Given the description of an element on the screen output the (x, y) to click on. 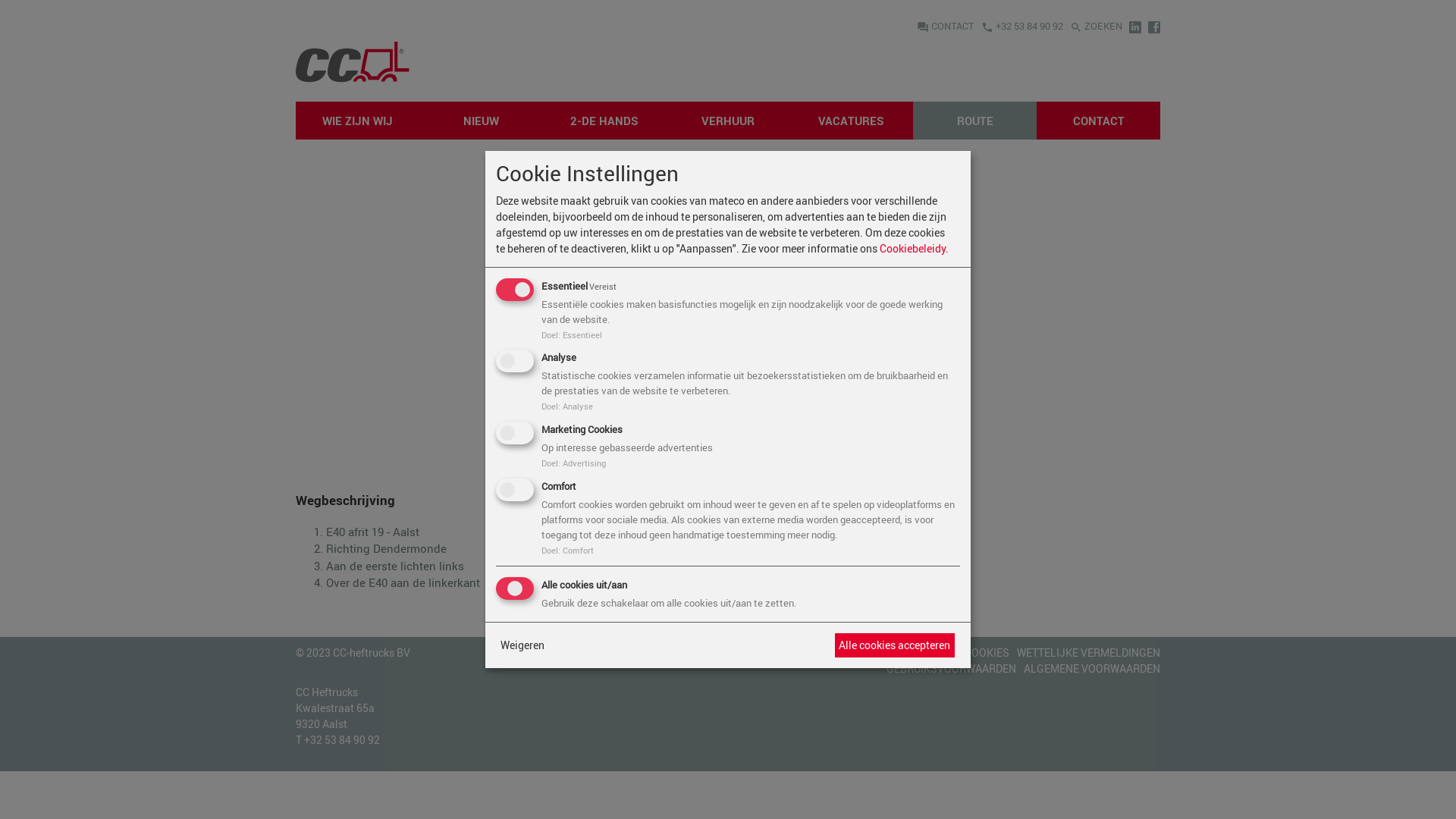
LinkedIn Element type: hover (1135, 25)
CC Heftrucks
Kwalestraat 65a
9320 Aalst
T Element type: text (334, 715)
CONTACT Element type: text (945, 25)
Alle cookies accepteren Element type: text (894, 645)
ALGEMENE VOORWAARDEN Element type: text (1091, 668)
SITEMAP Element type: text (848, 651)
GEBRUIKSVOORWAARDEN Element type: text (951, 668)
Weigeren Element type: text (521, 645)
PRIVACYBELEID Element type: text (917, 651)
WETTELIJKE VERMELDINGEN Element type: text (1088, 651)
VERHUUR Element type: text (728, 120)
NIEUW Element type: text (480, 120)
2-DE HANDS Element type: text (604, 120)
Facebook Element type: hover (1154, 25)
ROUTE Element type: text (974, 120)
Cookiebeleidy Element type: text (912, 248)
CONTACT Element type: text (1098, 120)
+32 53 84 90 92 Element type: text (341, 739)
ZOEKEN Element type: text (1096, 25)
COOKIES Element type: text (986, 651)
+32 53 84 90 92 Element type: text (1022, 25)
WIE ZIJN WIJ Element type: text (357, 120)
VACATURES Element type: text (851, 120)
